Given the description of an element on the screen output the (x, y) to click on. 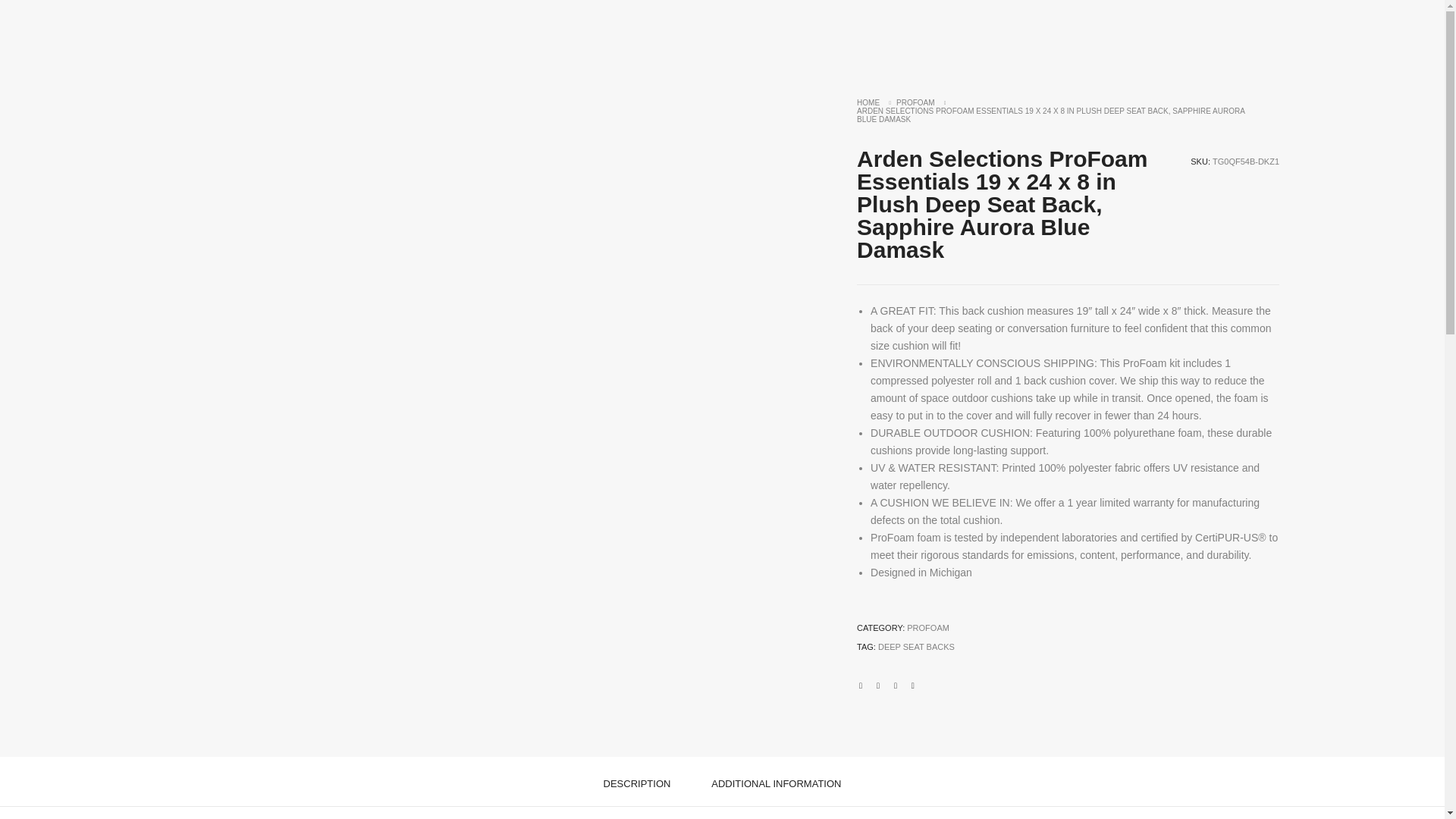
HOME (868, 102)
DESCRIPTION (637, 781)
DEEP SEAT BACKS (916, 646)
PROFOAM (915, 102)
PROFOAM (928, 627)
